Given the description of an element on the screen output the (x, y) to click on. 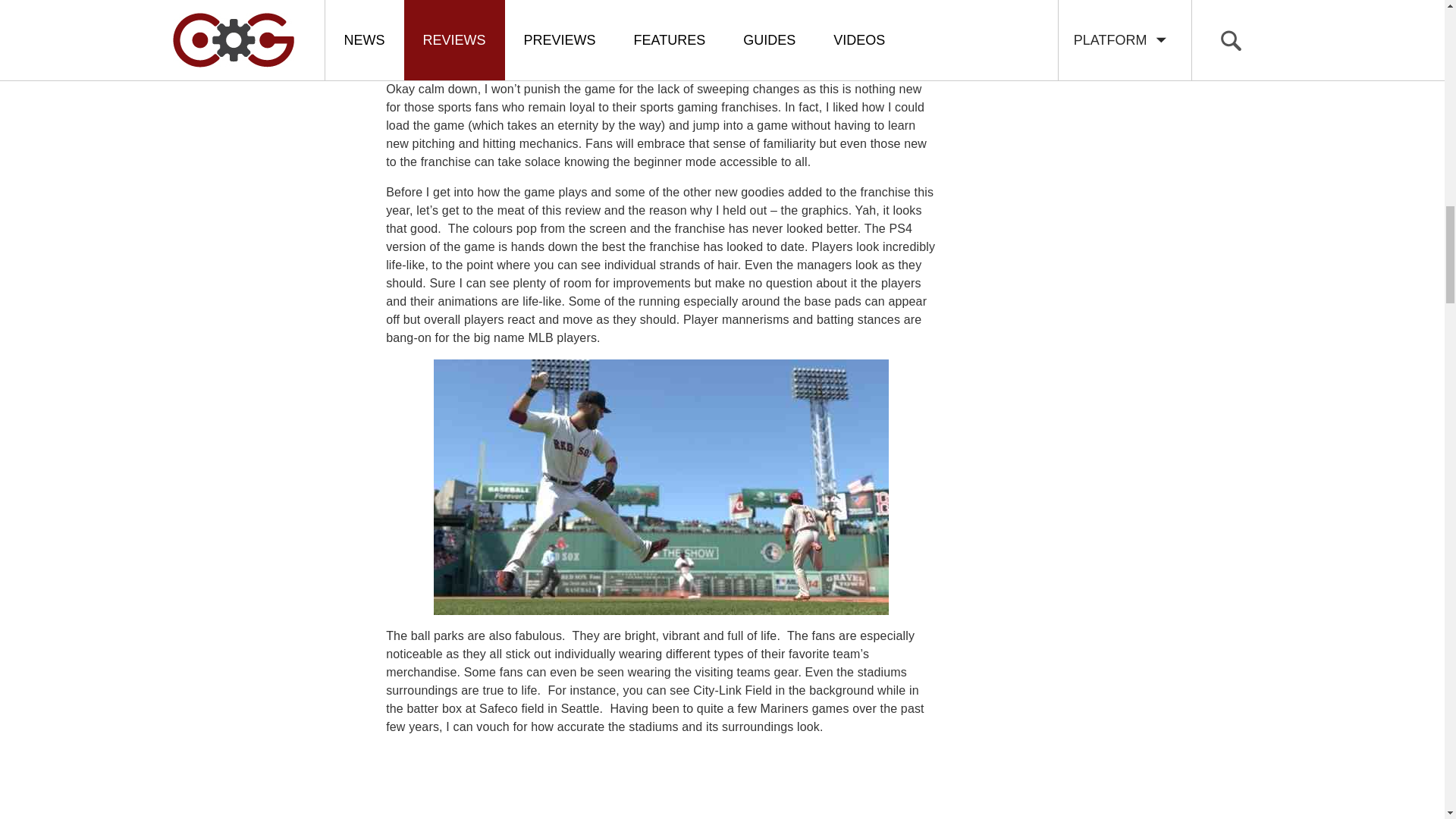
MLB08 (660, 487)
